Given the description of an element on the screen output the (x, y) to click on. 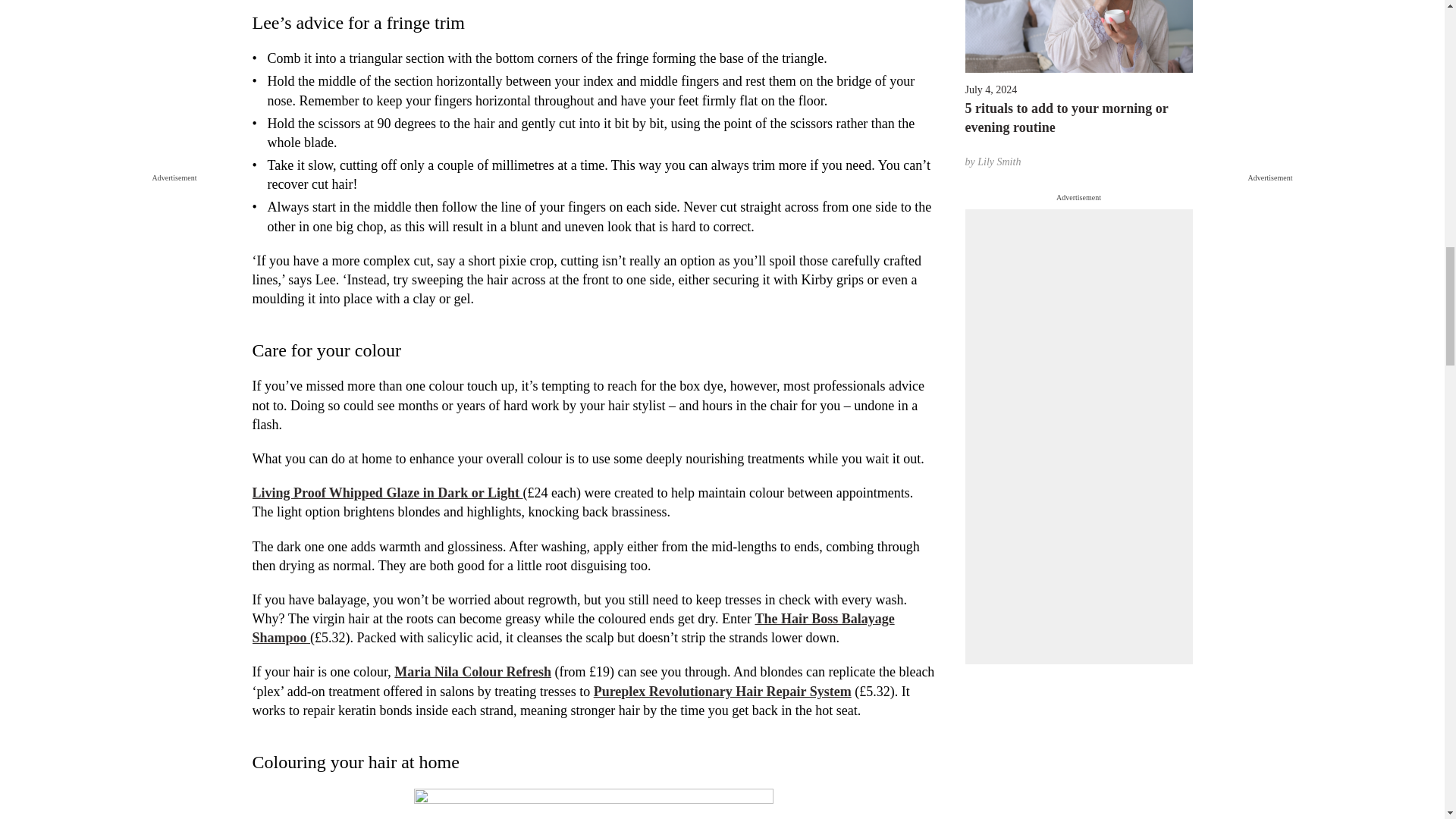
Pureplex Revolutionary Hair Repair System (722, 691)
Maria Nila Colour Refresh (472, 671)
The Hair Boss Balayage Shampoo (572, 627)
Living Proof Whipped Glaze in Dark or Light (386, 492)
